Given the description of an element on the screen output the (x, y) to click on. 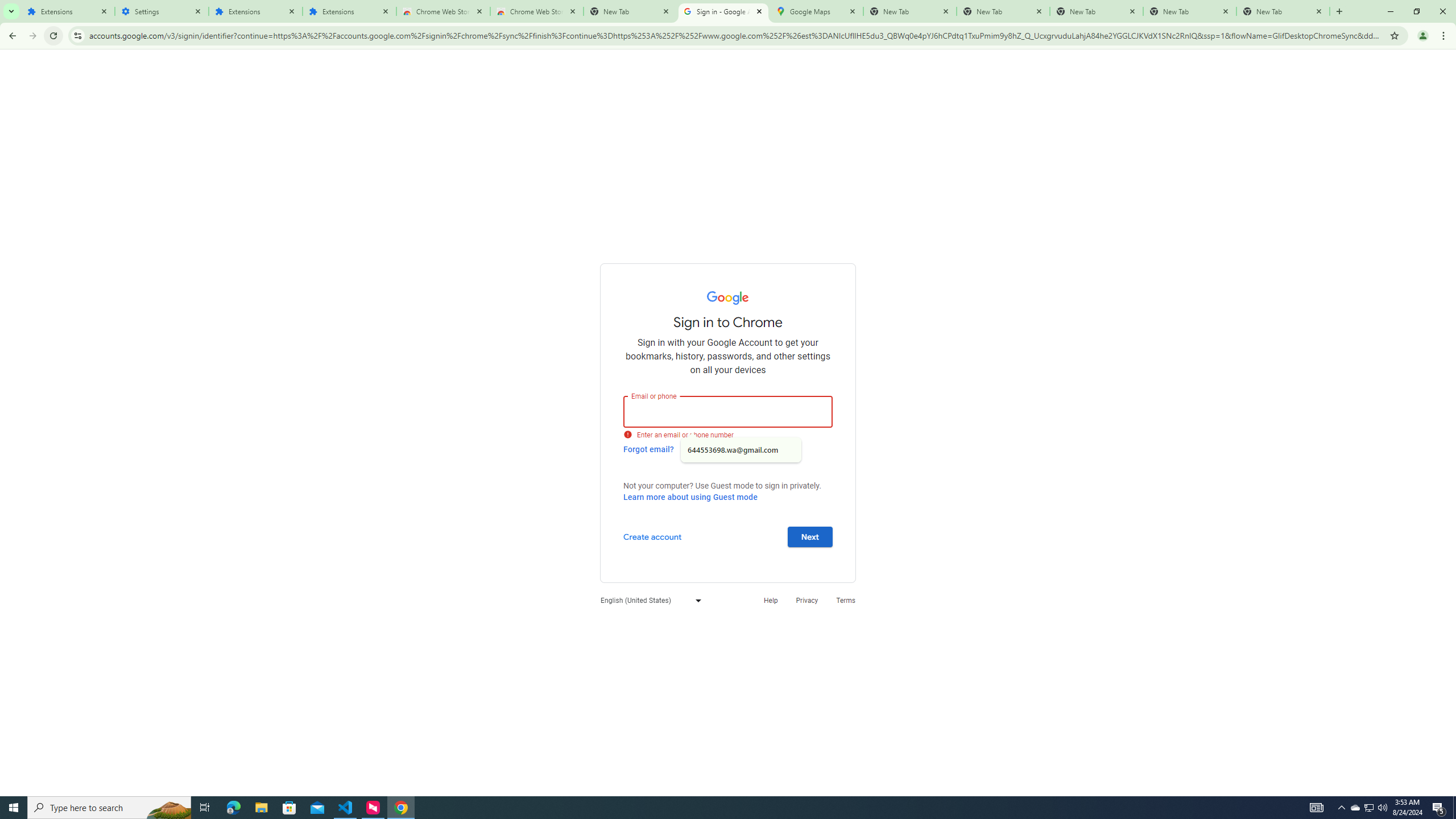
Terms (845, 600)
Google Maps (815, 11)
Restore (1416, 11)
Search tabs (10, 11)
Minimize (1390, 11)
View site information (77, 35)
Forward (32, 35)
New Tab (1283, 11)
Settings (161, 11)
Extensions (255, 11)
Learn more about using Guest mode (689, 497)
New Tab (1338, 11)
You (1422, 35)
